Given the description of an element on the screen output the (x, y) to click on. 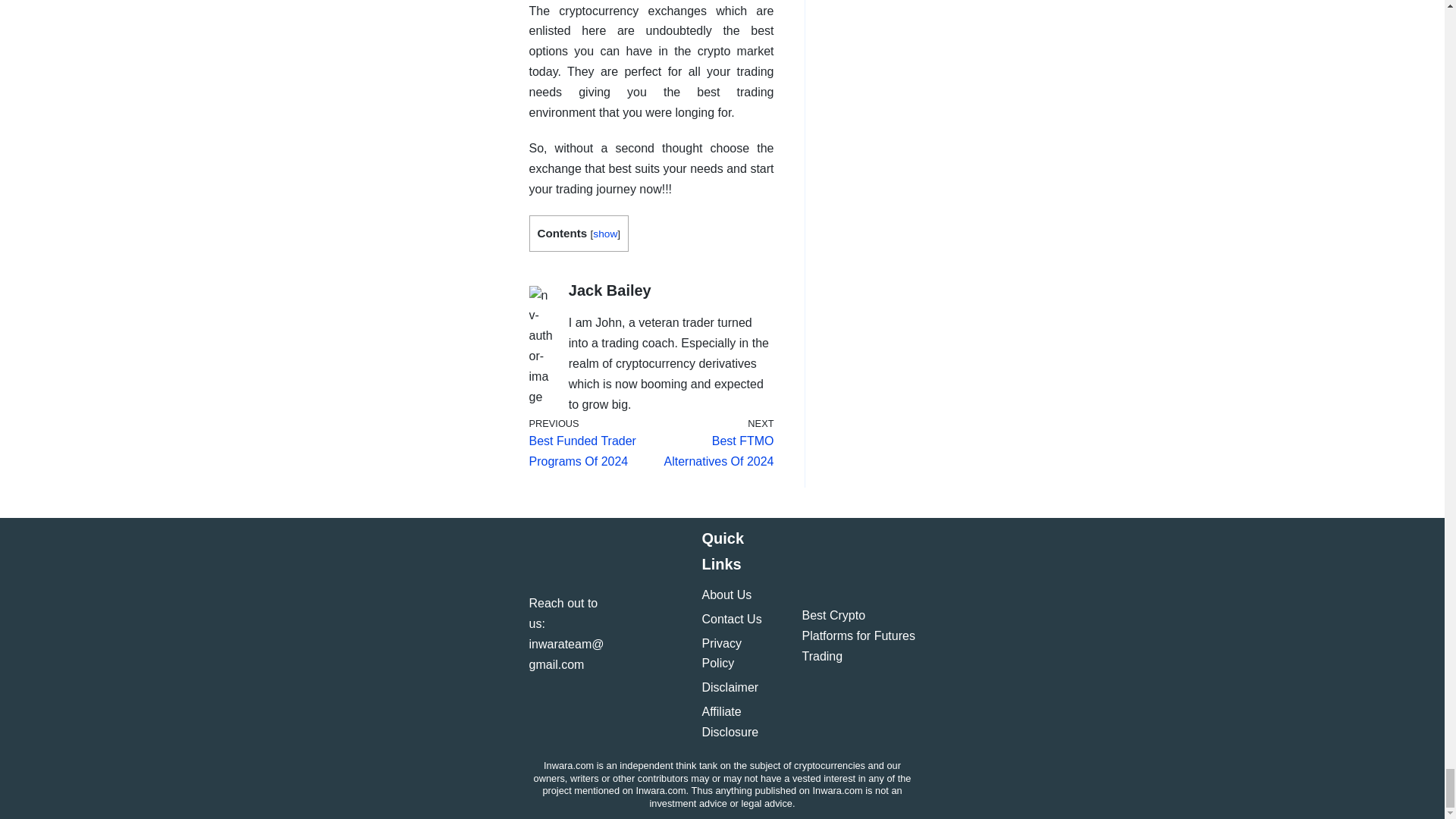
show (595, 441)
